Given the description of an element on the screen output the (x, y) to click on. 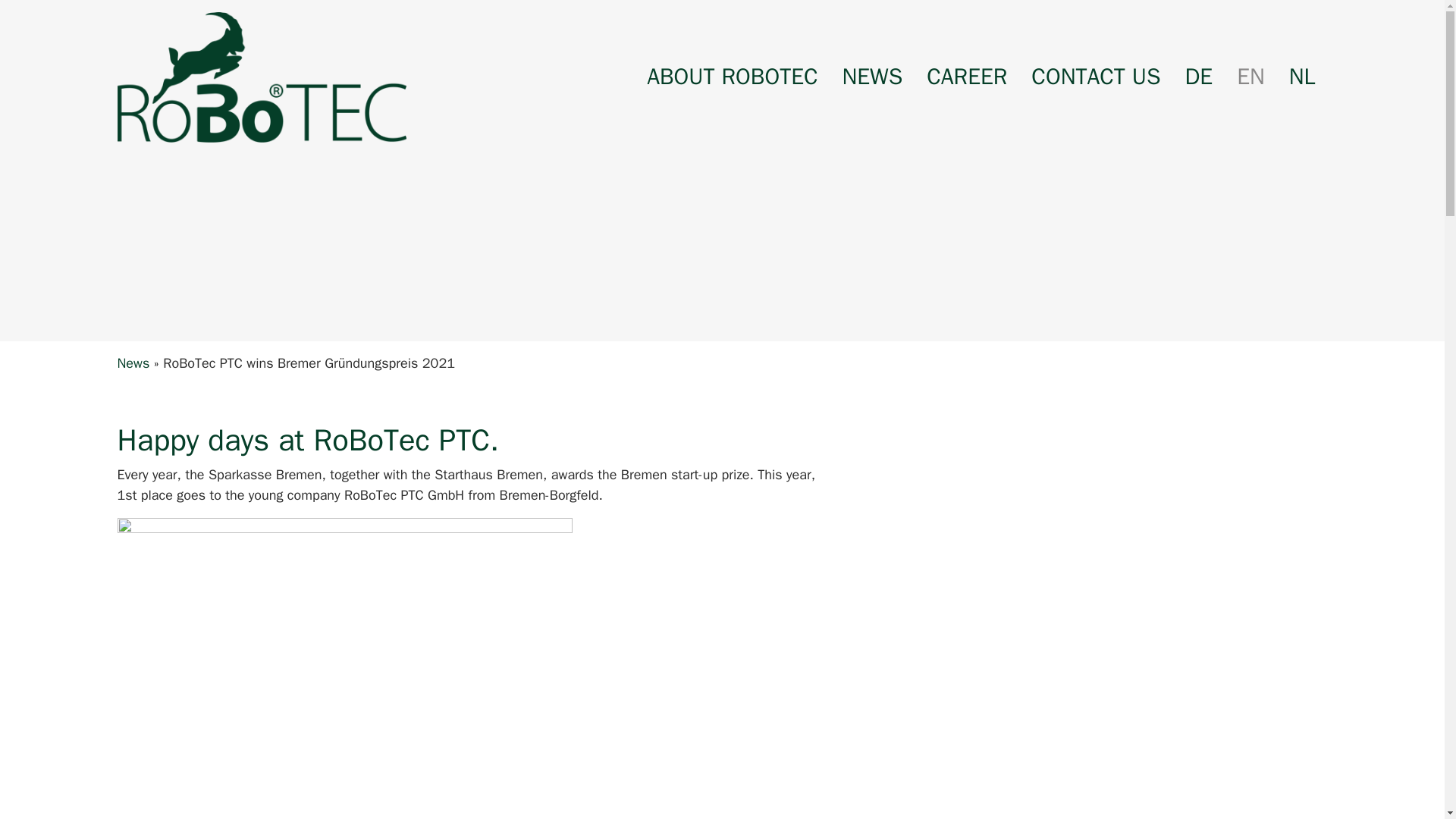
NL (1301, 76)
CONTACT US (1095, 76)
CAREER (966, 76)
News (132, 362)
ABOUT ROBOTEC (731, 76)
DE (1199, 76)
Career (966, 76)
EN (1250, 76)
News (872, 76)
Contact us (1095, 76)
